Given the description of an element on the screen output the (x, y) to click on. 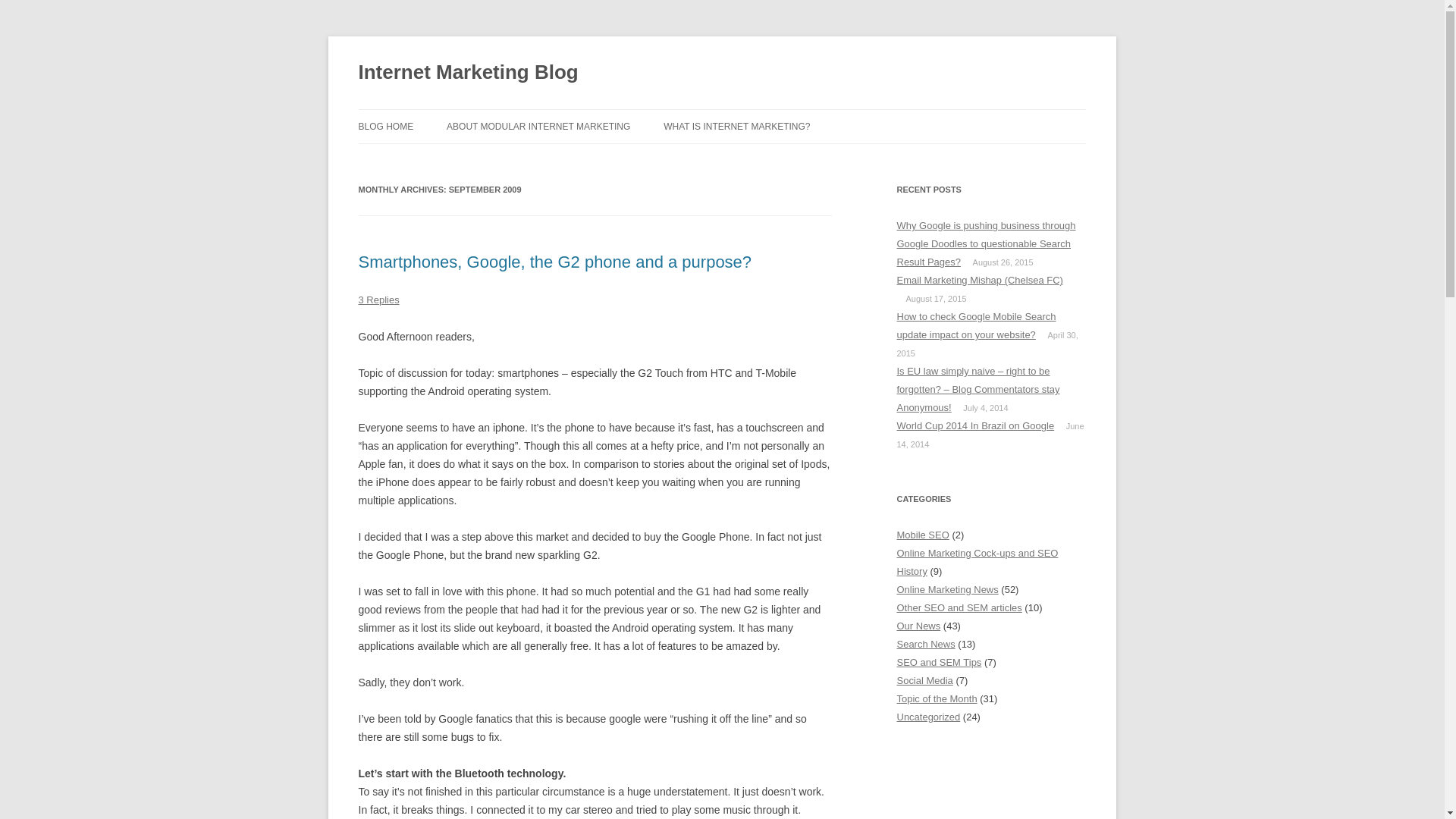
WHAT IS INTERNET MARKETING? (736, 126)
World Cup 2014 In Brazil on Google (975, 425)
Other SEO and SEM articles (959, 607)
Smartphones, Google, the G2 phone and a purpose? (554, 261)
Internet Marketing Blog (468, 72)
SEO and SEM Tips (938, 662)
Skip to content (757, 113)
3 Replies (378, 299)
Social Media (924, 680)
ABOUT MODULAR INTERNET MARKETING (538, 126)
Skip to content (757, 113)
Internet Marketing Blog (468, 72)
View all posts filed under Mobile SEO (922, 534)
